Given the description of an element on the screen output the (x, y) to click on. 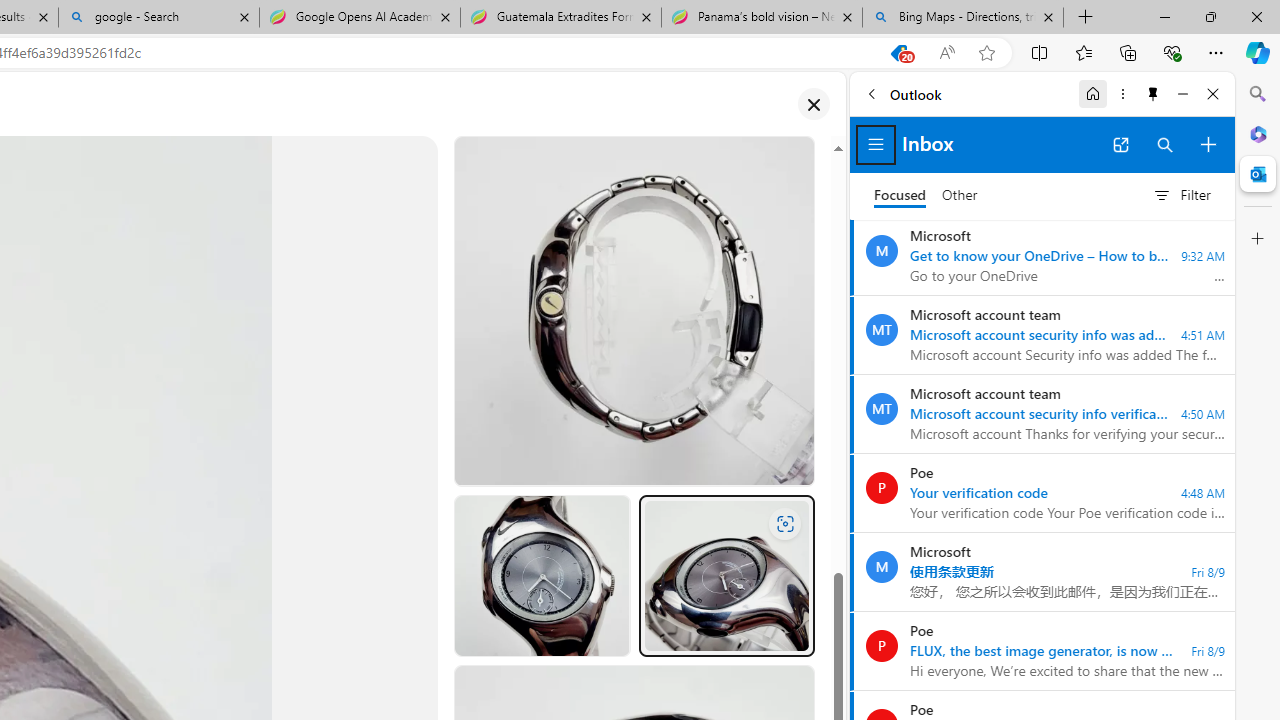
More options (1122, 93)
Close (1213, 93)
Filter (1181, 195)
Focused Inbox, toggle to go to Other Inbox (925, 195)
Open in new tab (1120, 144)
Home (1093, 93)
Back (871, 93)
Other (959, 195)
